Given the description of an element on the screen output the (x, y) to click on. 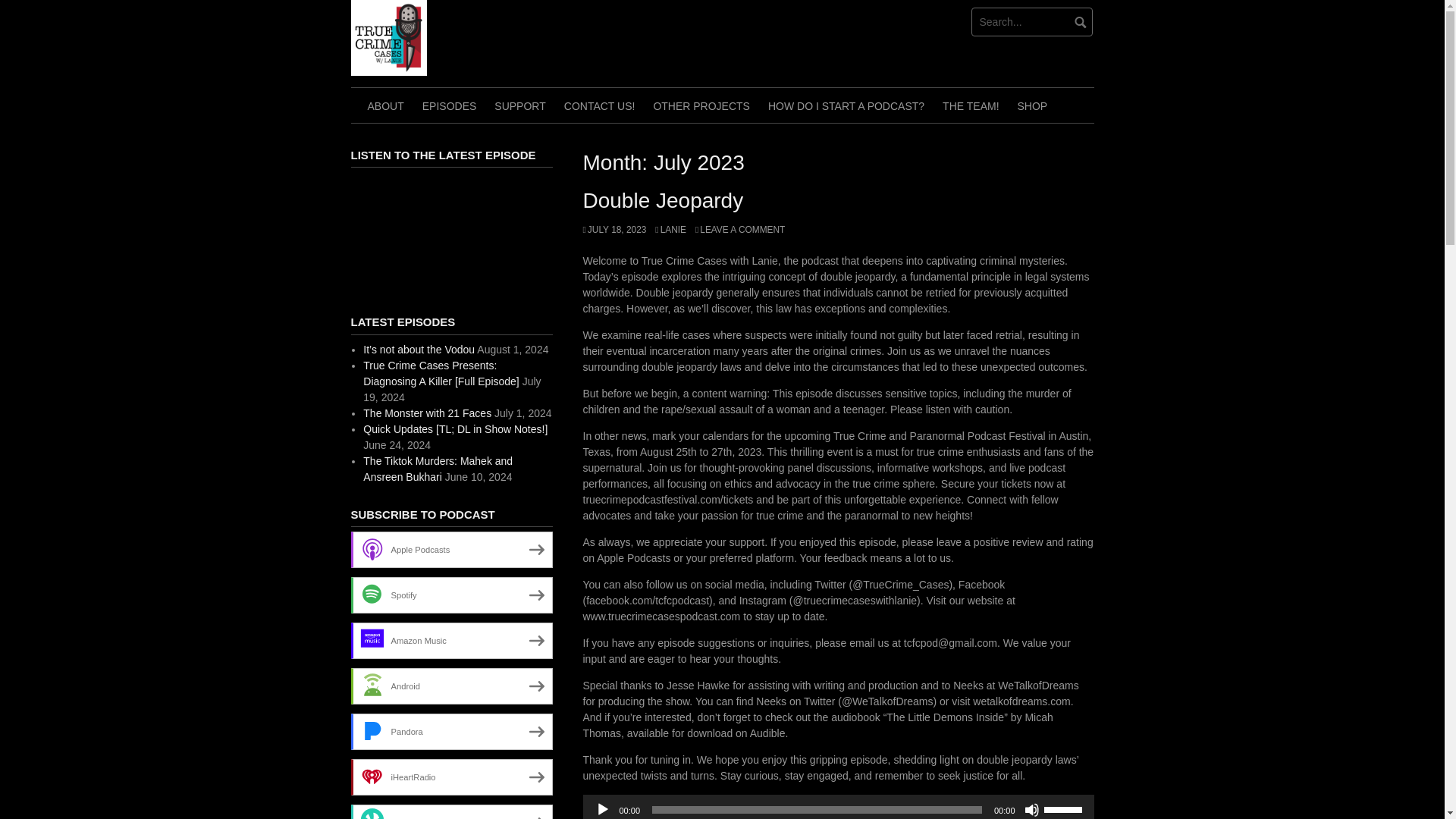
JULY 18, 2023 (614, 229)
Mute (1031, 809)
HOW DO I START A PODCAST? (845, 104)
OTHER PROJECTS (700, 104)
LEAVE A COMMENT (739, 229)
LANIE (670, 229)
CONTACT US! (599, 104)
Double Jeopardy (662, 200)
THE TEAM! (970, 104)
SHOP (1033, 104)
EPISODES (449, 104)
Play (602, 809)
Search for: (1031, 21)
ABOUT (385, 104)
SUPPORT (519, 104)
